Given the description of an element on the screen output the (x, y) to click on. 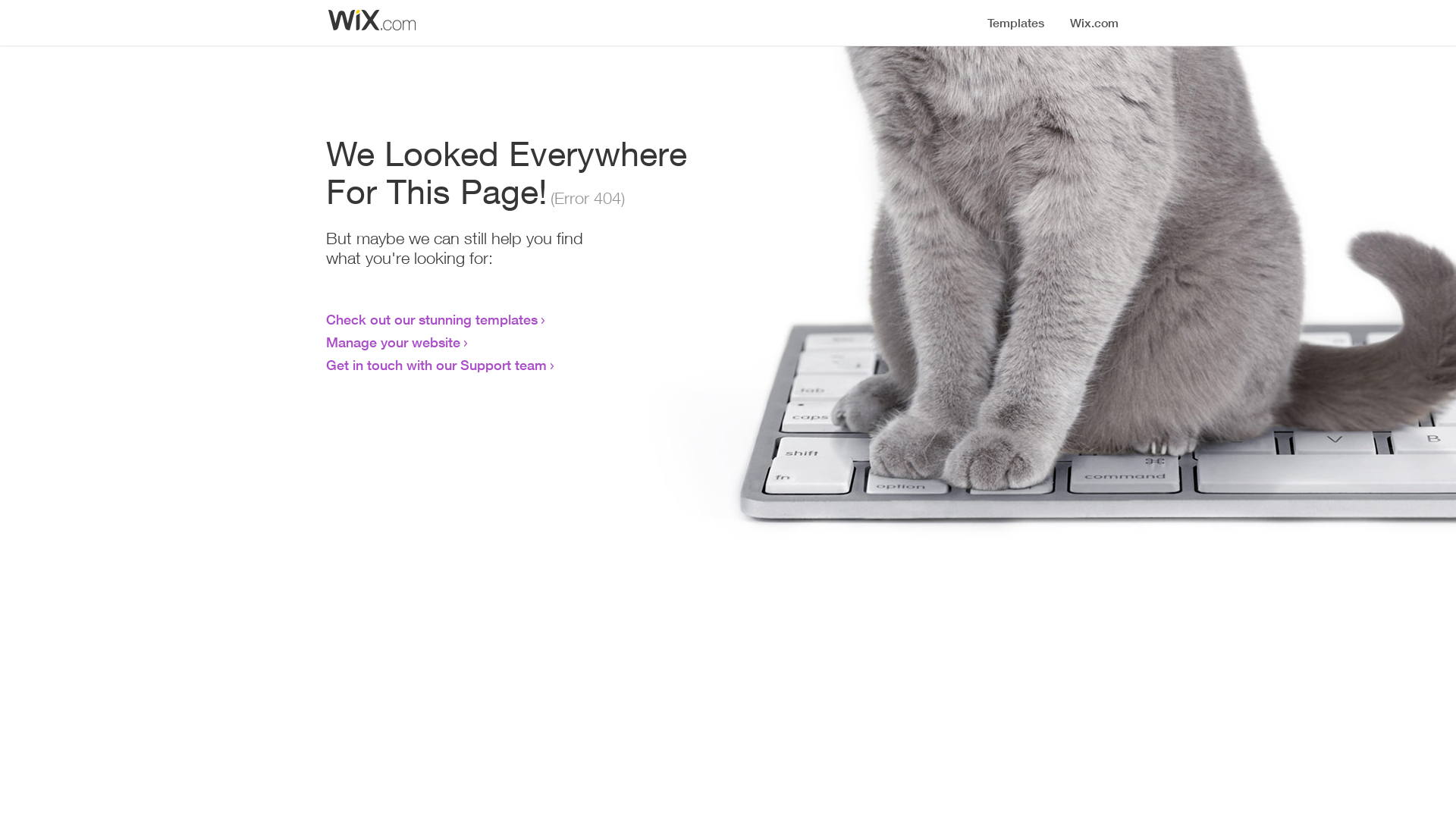
Manage your website Element type: text (393, 341)
Check out our stunning templates Element type: text (431, 318)
Get in touch with our Support team Element type: text (436, 364)
